Given the description of an element on the screen output the (x, y) to click on. 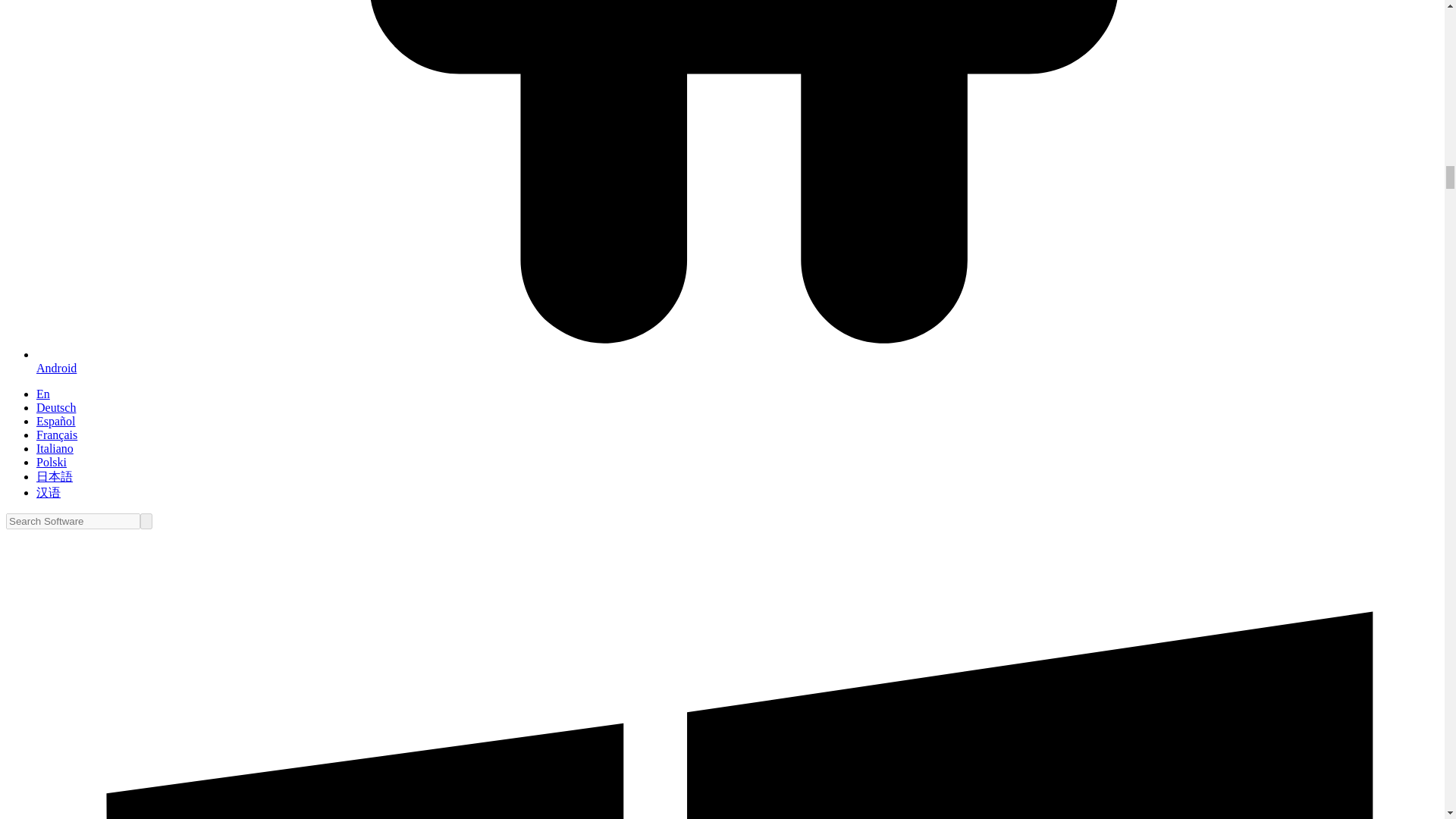
En (42, 393)
Deutsch (55, 407)
Polski (51, 461)
Italiano (55, 448)
Italiano (55, 448)
Deutsch (55, 407)
English (42, 393)
Polski (51, 461)
